Given the description of an element on the screen output the (x, y) to click on. 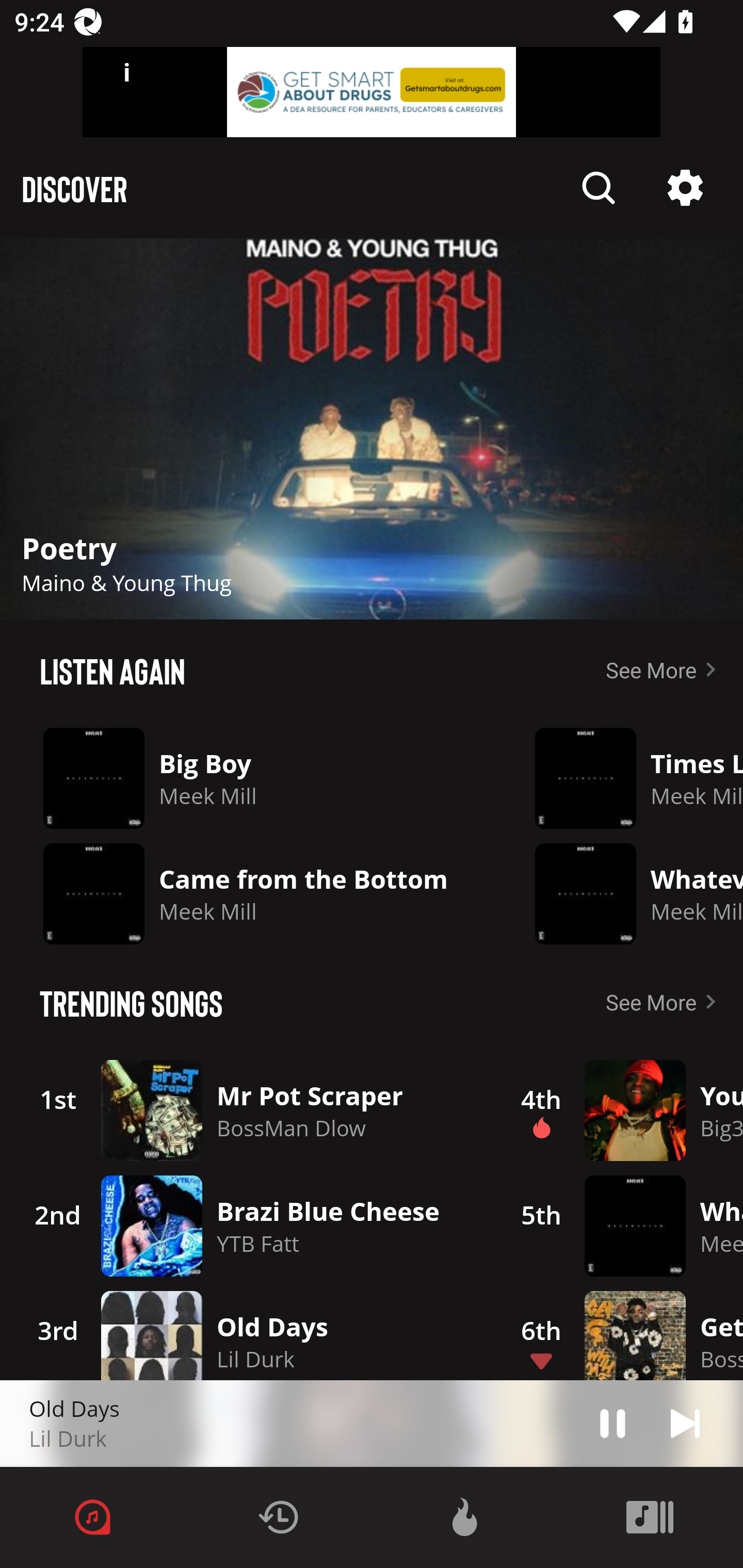
Description (598, 188)
Description (684, 188)
Description (371, 428)
See More (664, 669)
Description Big Boy Meek Mill (252, 778)
Description Times Like This Meek Mill (624, 778)
Description Came from the Bottom Meek Mill (252, 893)
See More (664, 1001)
1st Description Mr Pot Scraper BossMan Dlow (248, 1110)
4th Description Description You Thought Big30 (620, 1110)
2nd Description Brazi Blue Cheese YTB Fatt (248, 1226)
3rd Description Old Days Lil Durk (248, 1331)
Old Days Lil Durk Description Description (371, 1423)
Description (612, 1422)
Description (685, 1422)
